Given the description of an element on the screen output the (x, y) to click on. 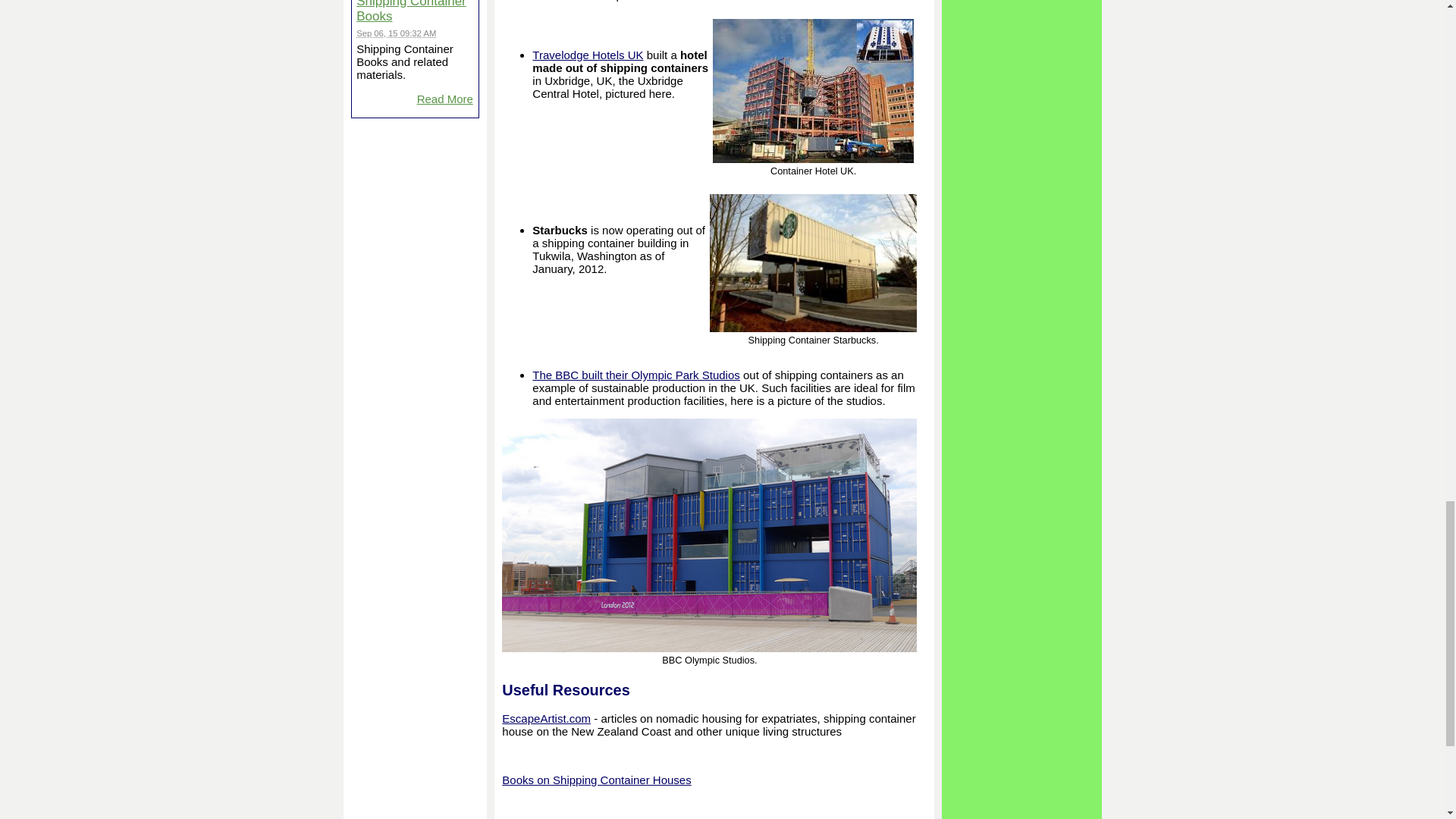
Shipping container Starbucks (813, 263)
Container hotel UK (813, 90)
2015-09-06T09:32:39-0400 (395, 32)
BBC Olympic Studios (709, 534)
